Given the description of an element on the screen output the (x, y) to click on. 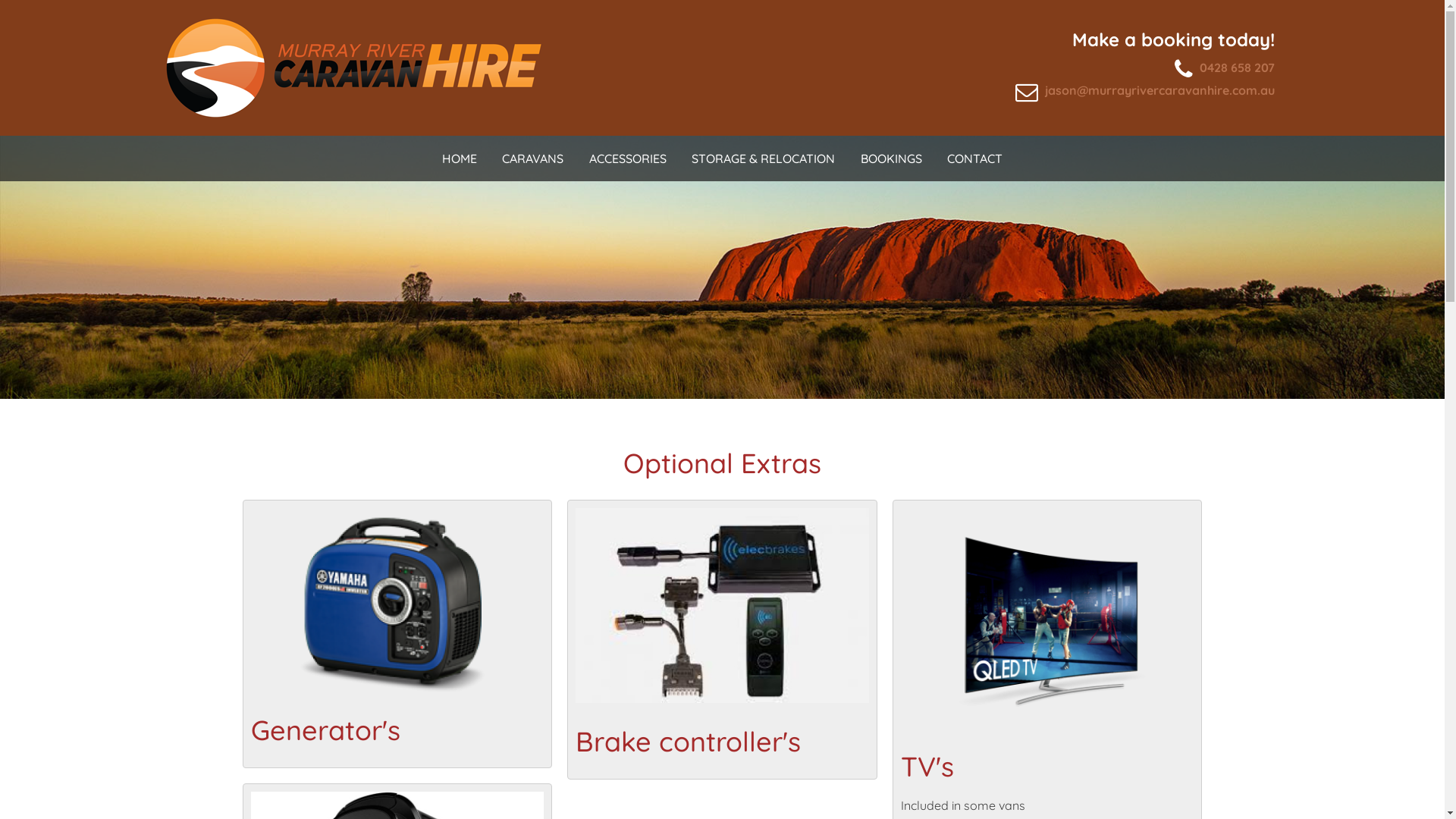
ACCESSORIES Element type: text (627, 158)
HOME Element type: text (459, 158)
CONTACT Element type: text (975, 158)
Murray River Caravan Hire Element type: hover (351, 65)
CARAVANS Element type: text (532, 158)
0428 658 207 Element type: text (1236, 67)
STORAGE & RELOCATION Element type: text (763, 158)
jason@murrayrivercaravanhire.com.au Element type: text (1159, 89)
BOOKINGS Element type: text (891, 158)
